Given the description of an element on the screen output the (x, y) to click on. 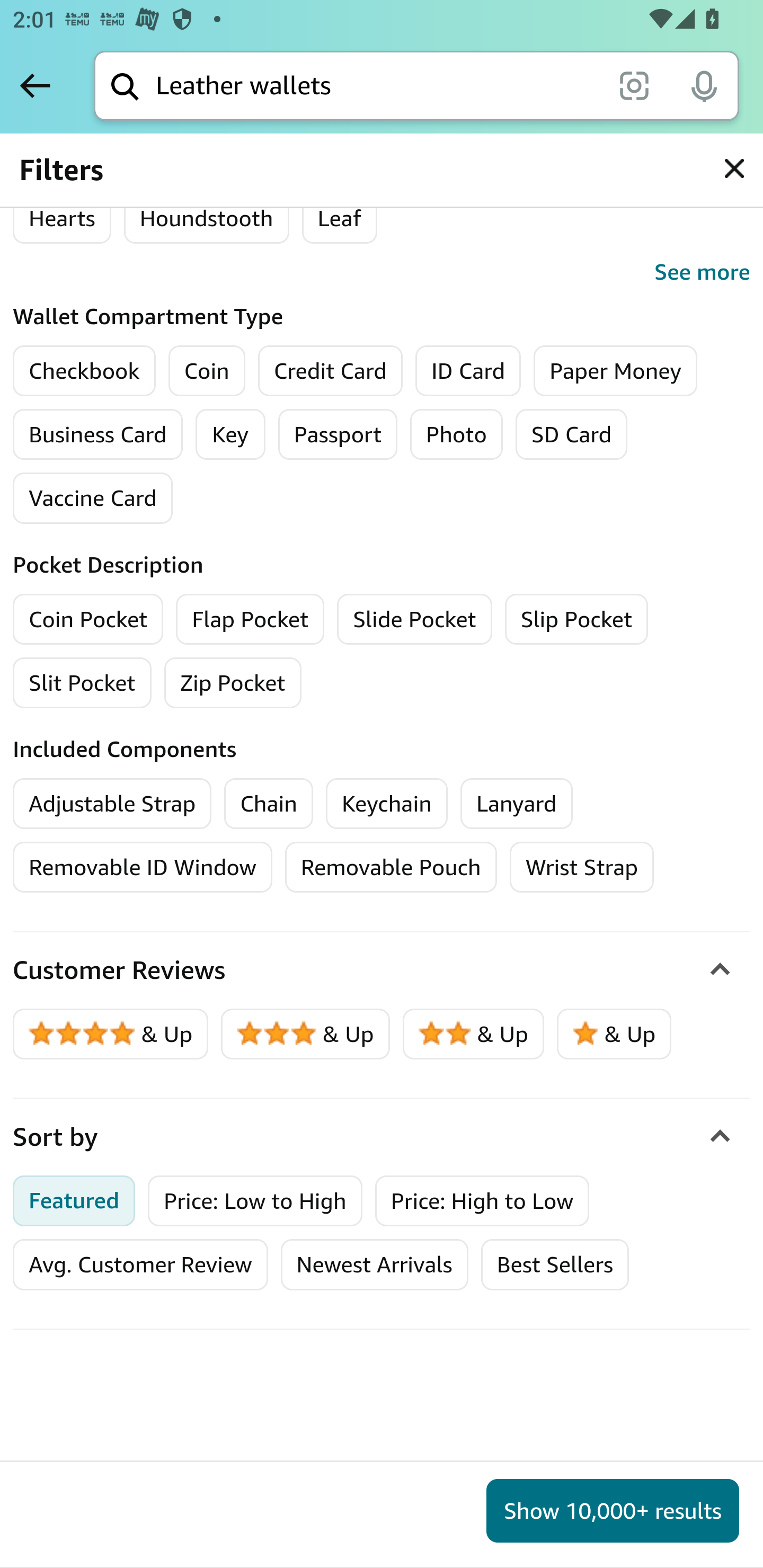
Back (35, 85)
scan it (633, 85)
Checkered (80, 157)
Hearts (61, 218)
Houndstooth (205, 218)
Leaf (339, 218)
See more, Pattern See more (381, 271)
Checkbook (83, 370)
Coin (206, 370)
Credit Card (330, 370)
ID Card (468, 370)
Paper Money (615, 370)
Business Card (97, 433)
Key (229, 433)
Passport (337, 433)
Photo (456, 433)
SD Card (571, 433)
Vaccine Card (92, 497)
Coin Pocket (88, 618)
Flap Pocket (249, 618)
Slide Pocket (414, 618)
Slip Pocket (575, 618)
Slit Pocket (82, 682)
Zip Pocket (233, 682)
Adjustable Strap (112, 803)
Chain (269, 803)
Keychain (386, 803)
Lanyard (516, 803)
Removable ID Window (142, 866)
Removable Pouch (390, 866)
Wrist Strap (581, 866)
Customer Reviews (381, 970)
4 Stars & Up (110, 1033)
3 Stars & Up (305, 1033)
2 Stars & Up (473, 1033)
1 Star & Up (614, 1033)
Sort by (381, 1136)
Price: Low to High (255, 1200)
Price: High to Low (481, 1200)
Avg. Customer Review (140, 1264)
Newest Arrivals (374, 1264)
Best Sellers (554, 1264)
Show 10,000+ results (612, 1510)
